Given the description of an element on the screen output the (x, y) to click on. 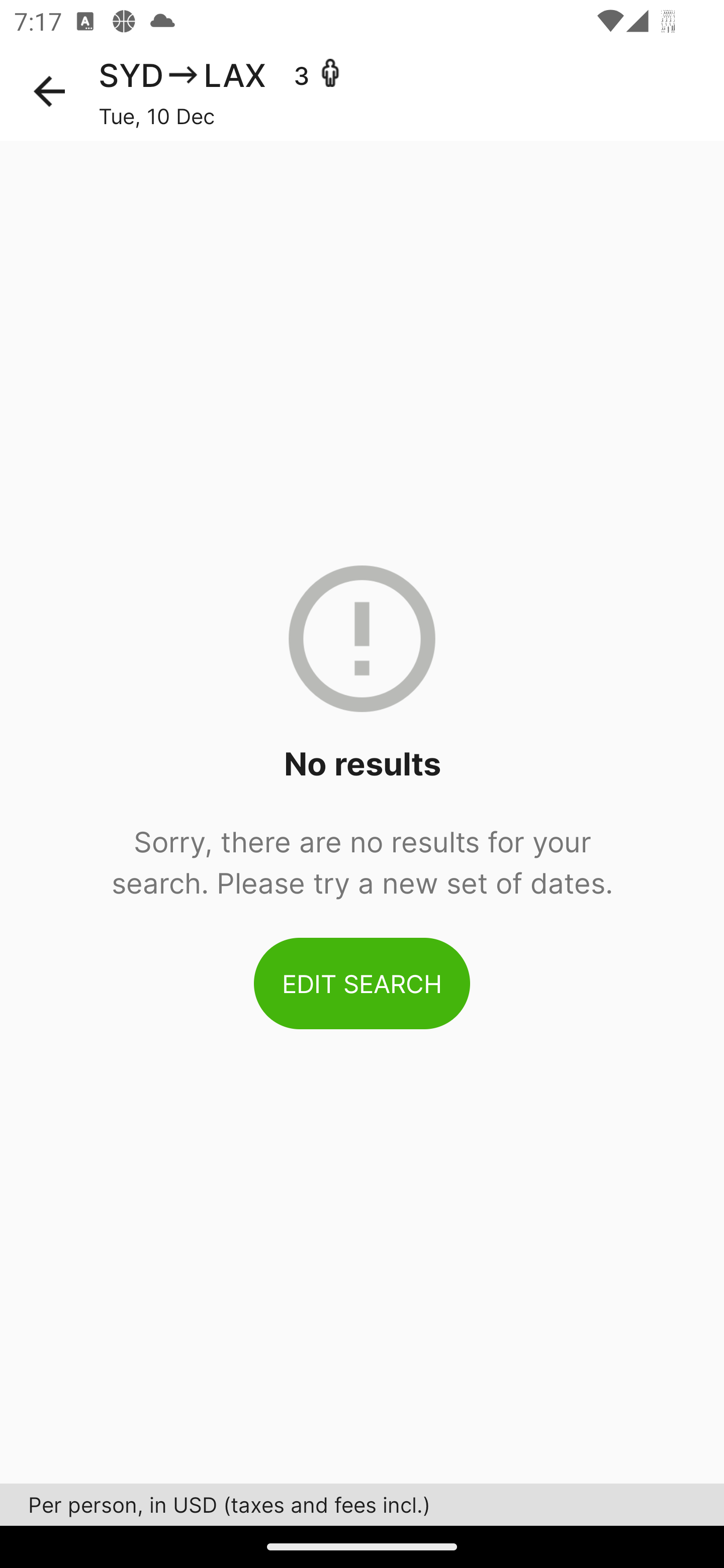
SYD LAX   3 - Tue, 10 Dec (411, 91)
EDIT SEARCH (361, 982)
